Given the description of an element on the screen output the (x, y) to click on. 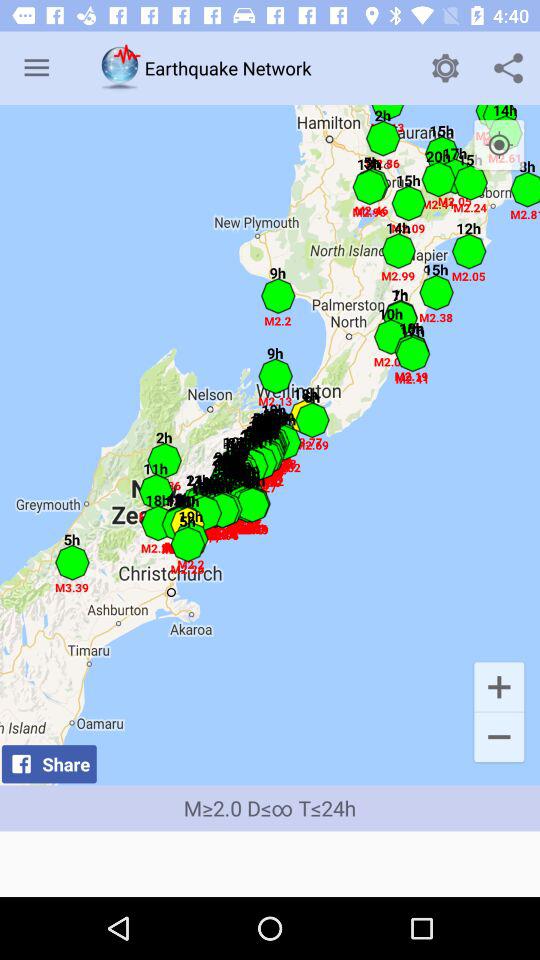
turn off m 2 0 item (270, 808)
